Given the description of an element on the screen output the (x, y) to click on. 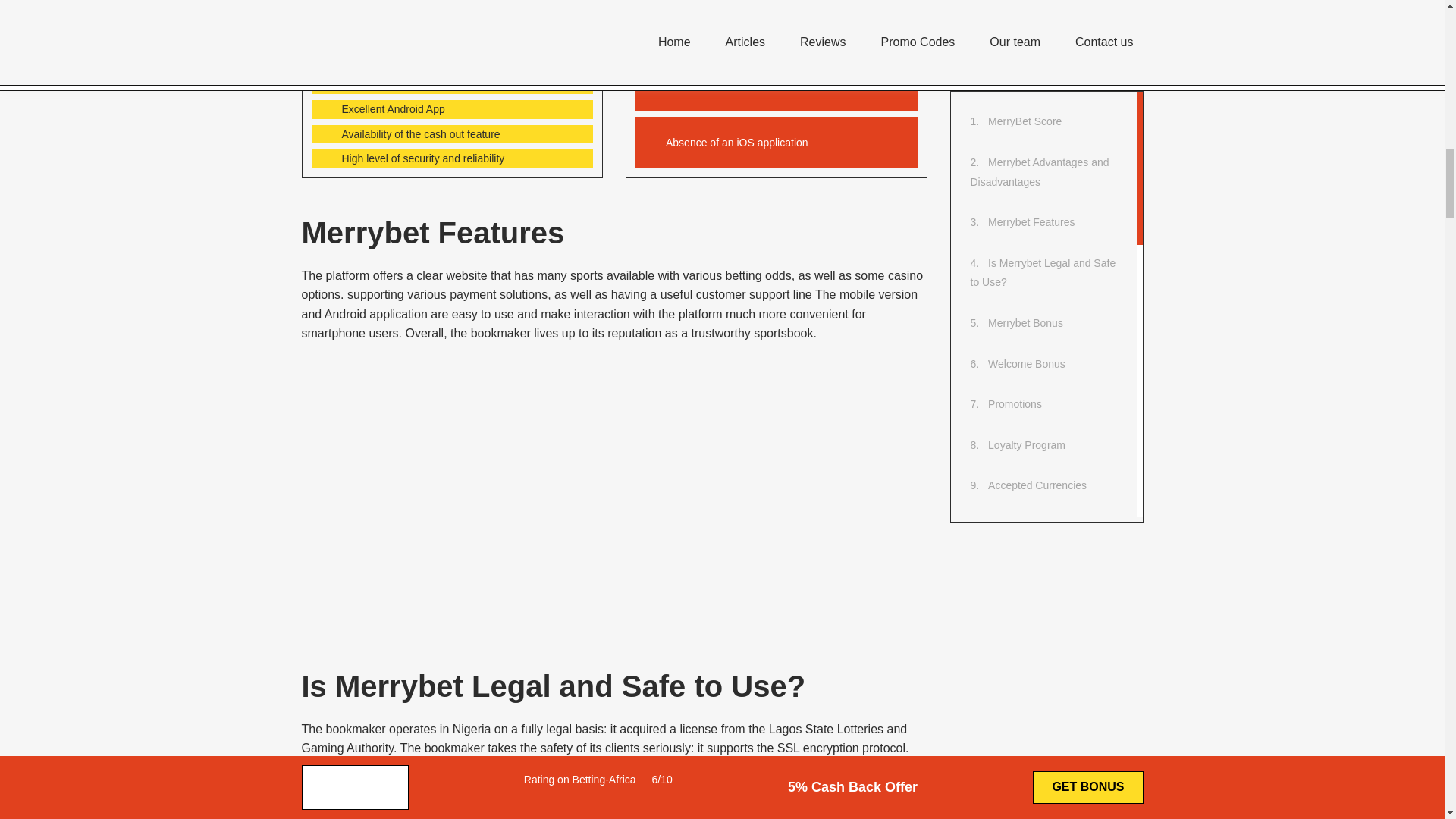
VideoPress Video Player (544, 488)
